Given the description of an element on the screen output the (x, y) to click on. 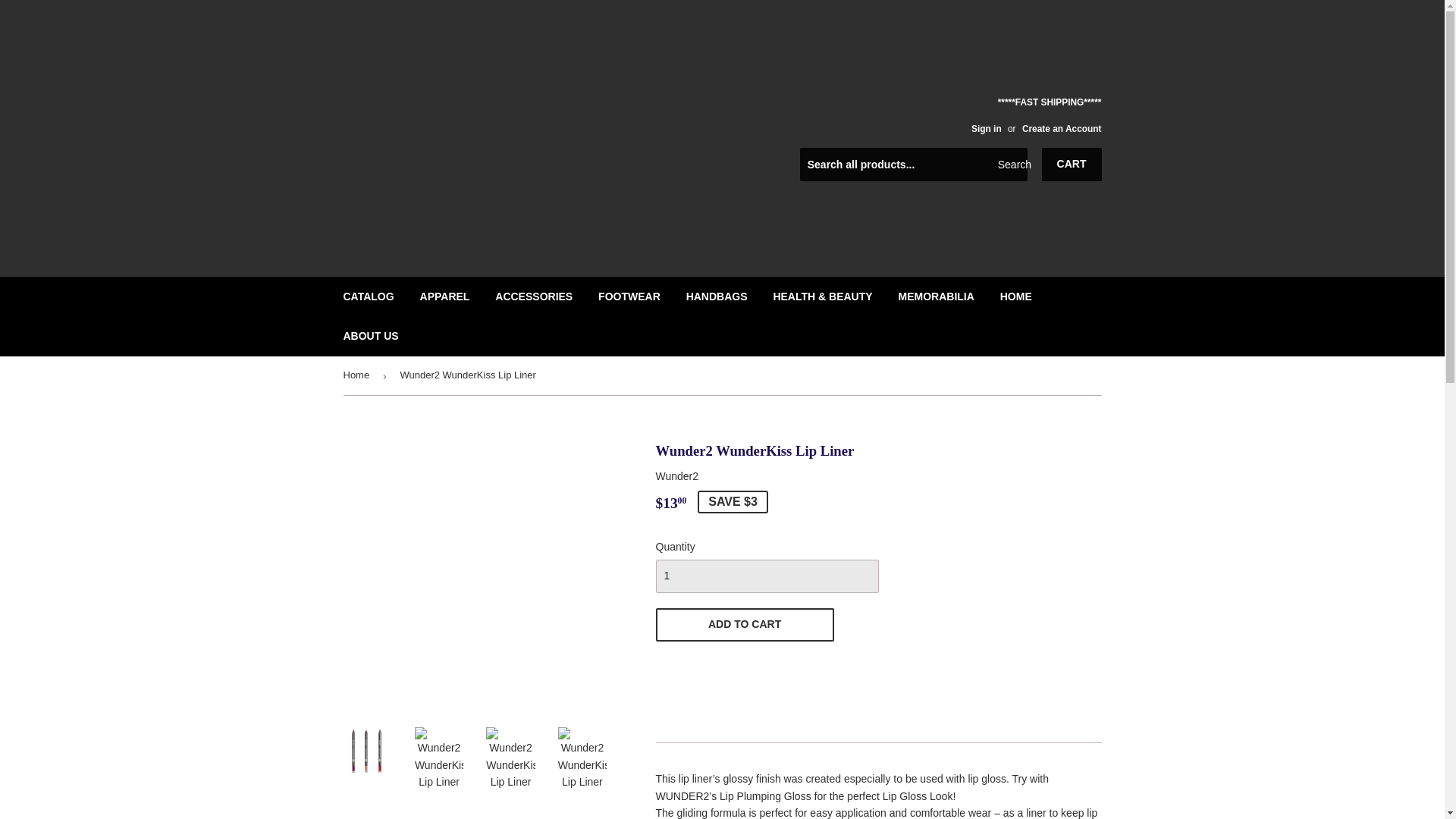
CART (1072, 164)
Search (1009, 164)
Sign in (986, 127)
CATALOG (368, 296)
1 (766, 575)
Create an Account (1062, 127)
APPAREL (445, 296)
